Given the description of an element on the screen output the (x, y) to click on. 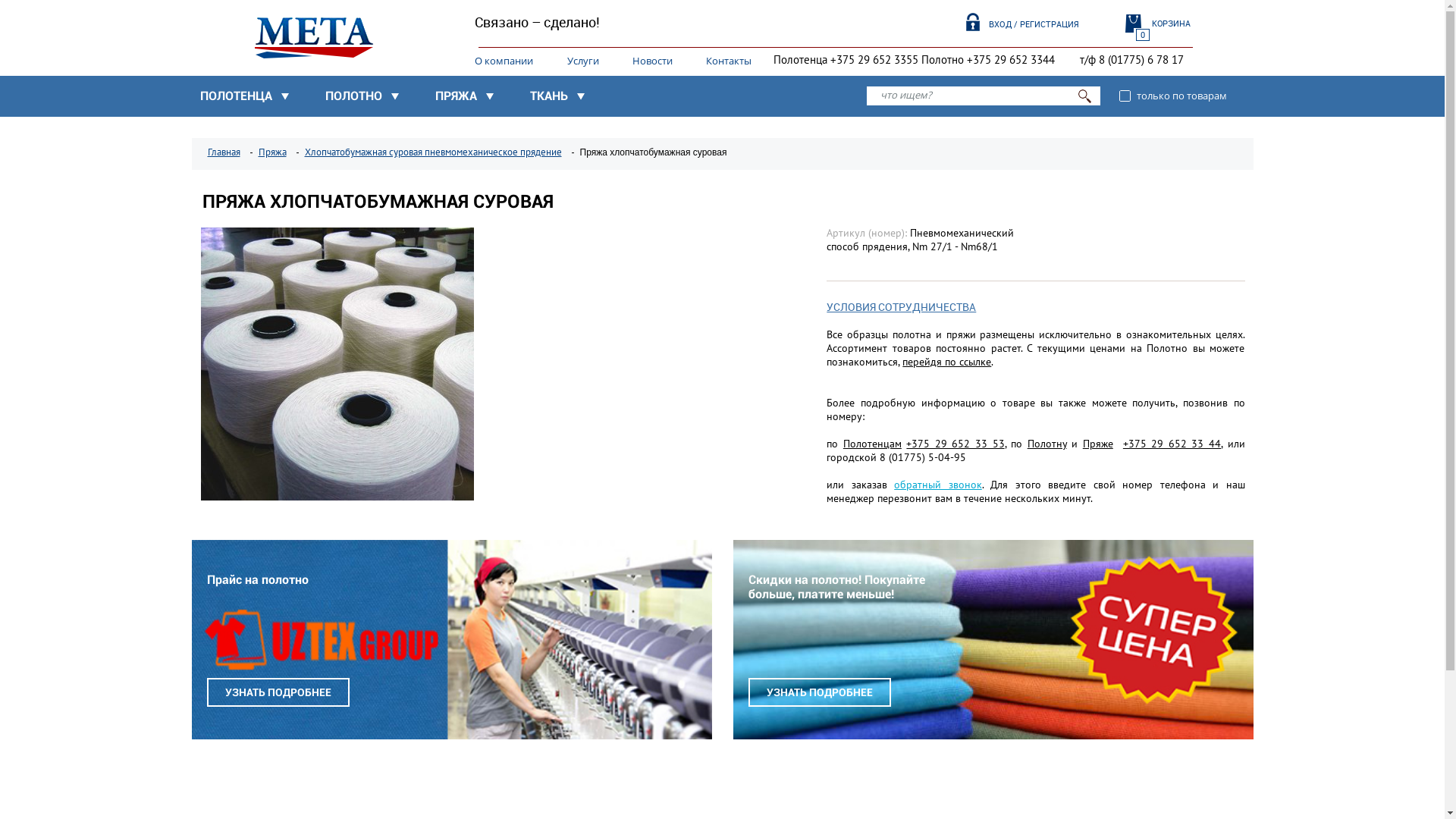
+375 29 652 33 53 Element type: text (955, 443)
+375 29 652 33 44 Element type: text (1171, 443)
